Given the description of an element on the screen output the (x, y) to click on. 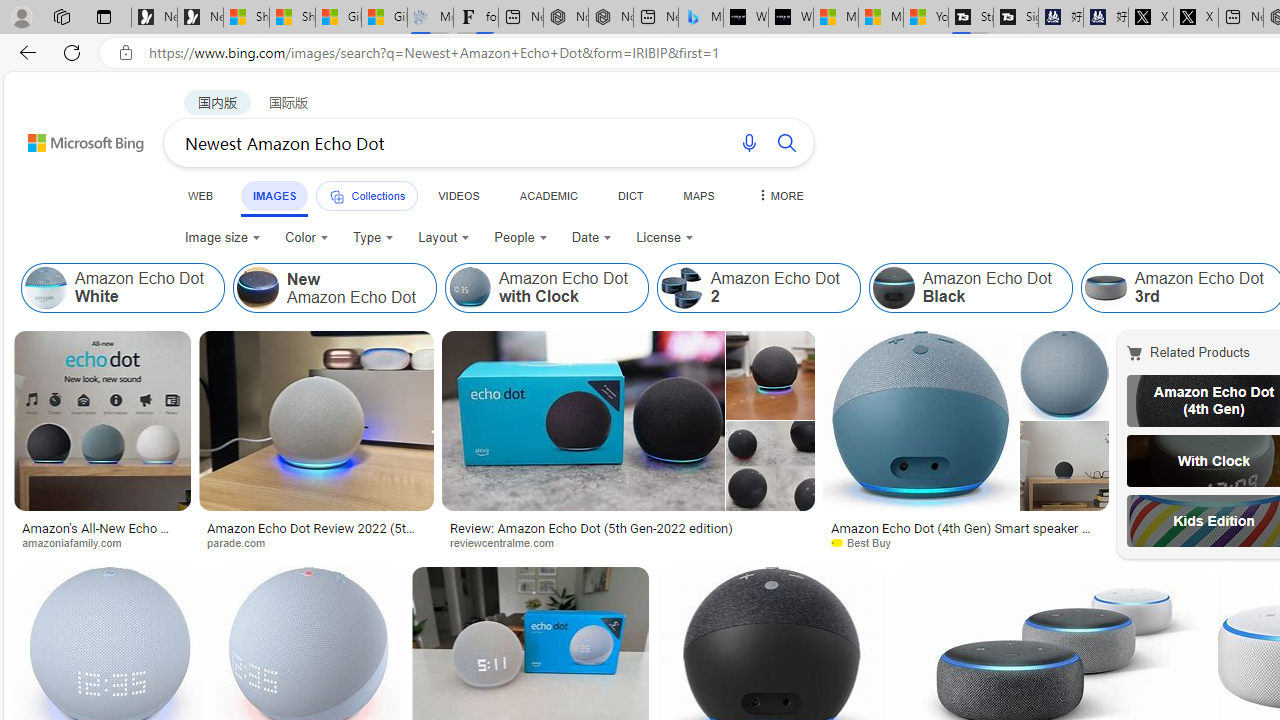
Image result for Newest Amazon Echo Dot (965, 421)
parade.com (316, 542)
Date (591, 237)
reviewcentralme.com (509, 541)
reviewcentralme.com (628, 542)
License (664, 237)
Type (373, 237)
Amazon Echo Dot White (122, 287)
IMAGES (274, 196)
